Given the description of an element on the screen output the (x, y) to click on. 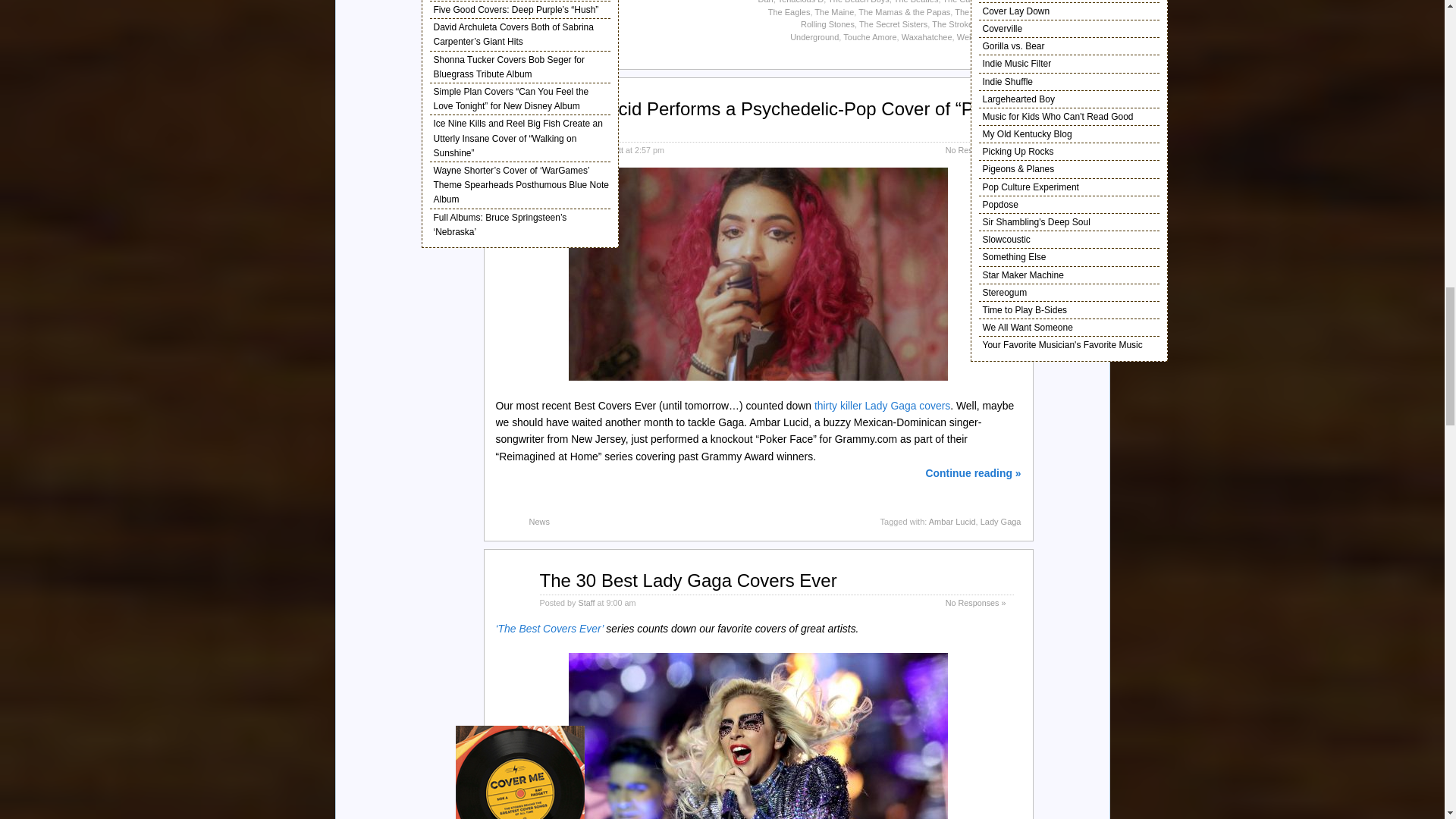
The 30 Best Lady Gaga Covers Ever (688, 580)
